Given the description of an element on the screen output the (x, y) to click on. 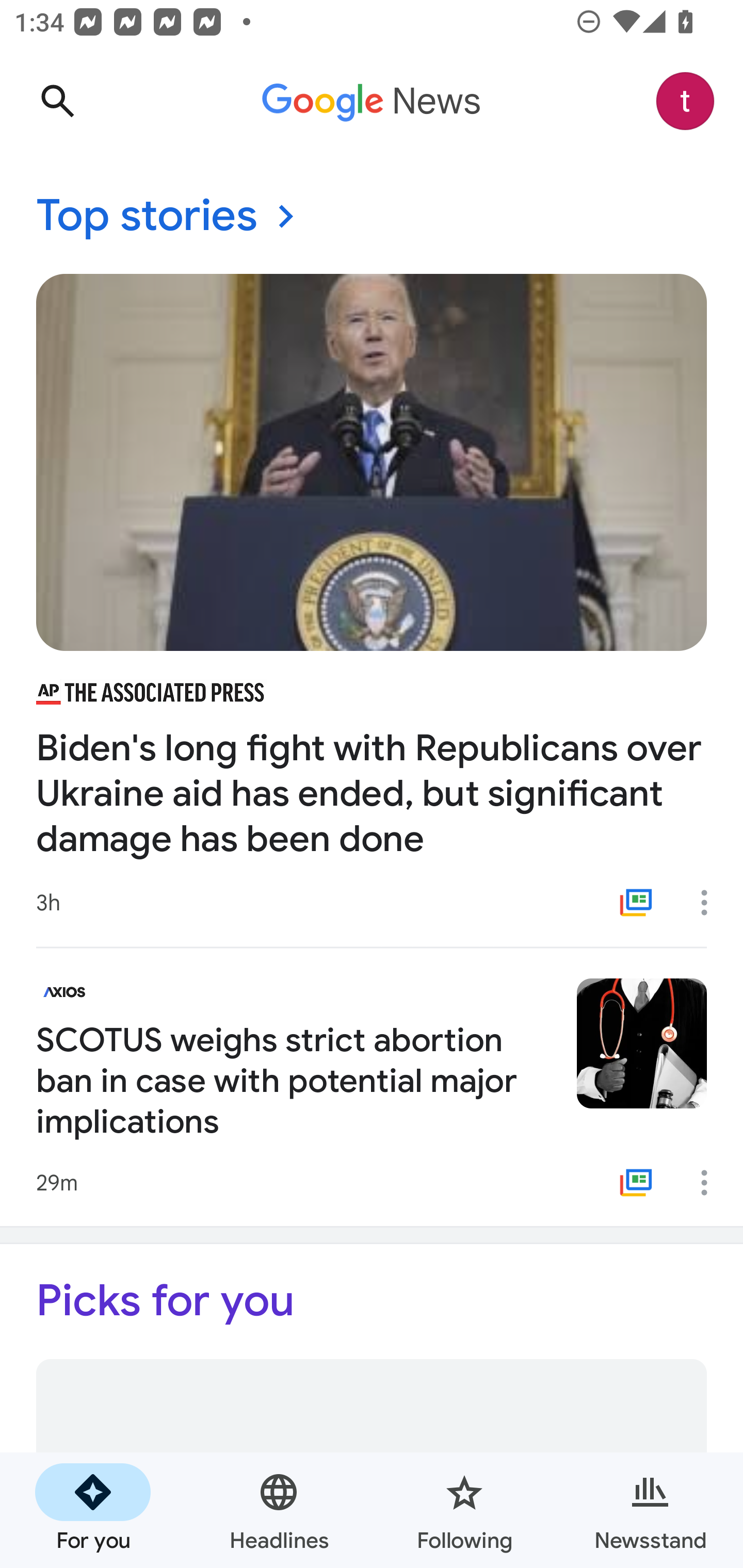
Search (57, 100)
Top stories (371, 216)
More options (711, 902)
More options (711, 1182)
For you (92, 1509)
Headlines (278, 1509)
Following (464, 1509)
Newsstand (650, 1509)
